Given the description of an element on the screen output the (x, y) to click on. 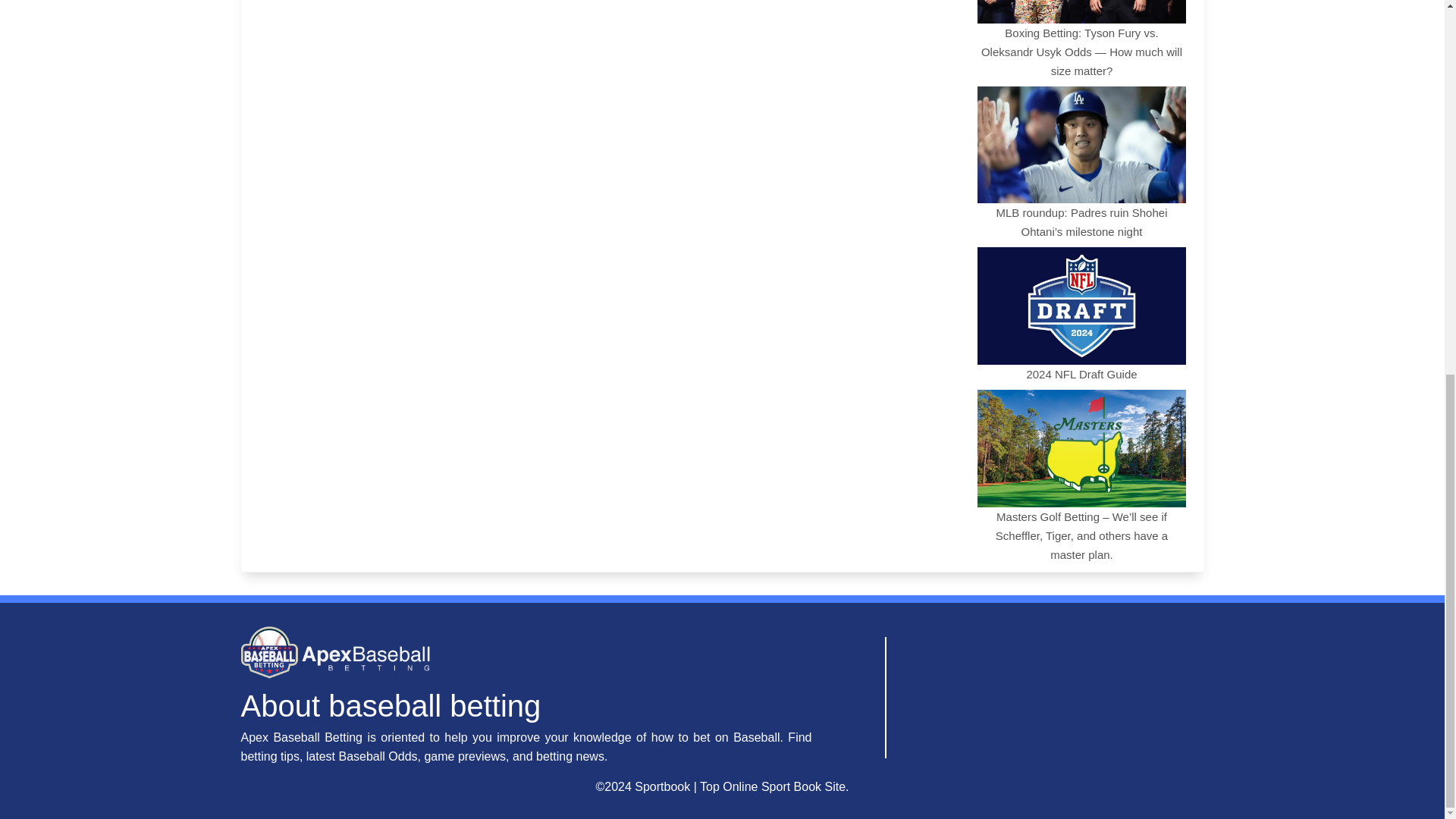
2024 NFL Draft Guide (1081, 313)
